Given the description of an element on the screen output the (x, y) to click on. 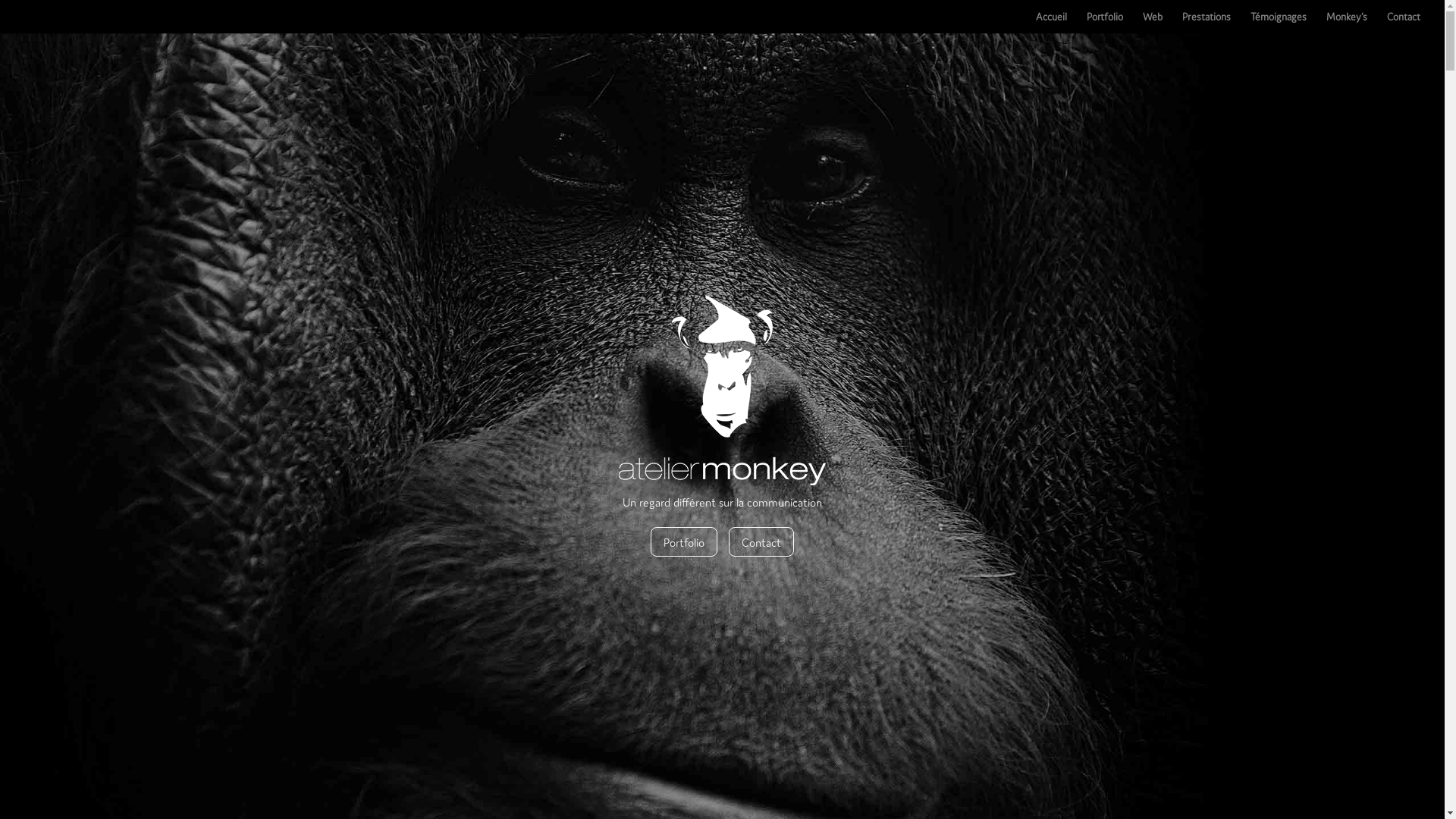
Prestations Element type: text (1206, 22)
Contact Element type: text (760, 541)
Accueil Element type: text (1050, 22)
Portfolio Element type: text (683, 541)
Web Element type: text (1152, 22)
Portfolio Element type: text (1104, 22)
Contact Element type: text (1403, 22)
